Given the description of an element on the screen output the (x, y) to click on. 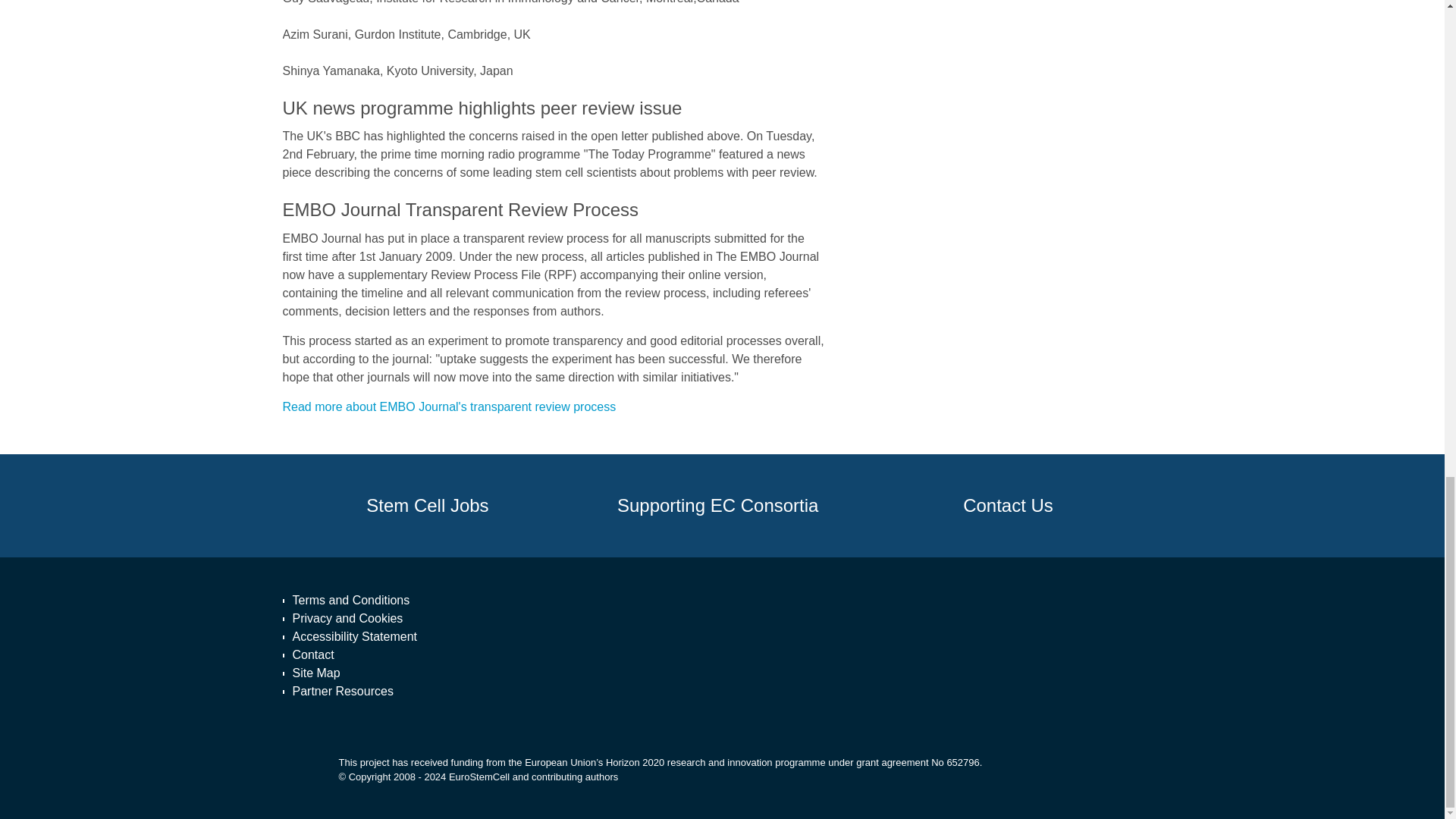
Contact Us (1008, 505)
Terms and Conditions (354, 600)
Privacy and Cookies (354, 618)
